Given the description of an element on the screen output the (x, y) to click on. 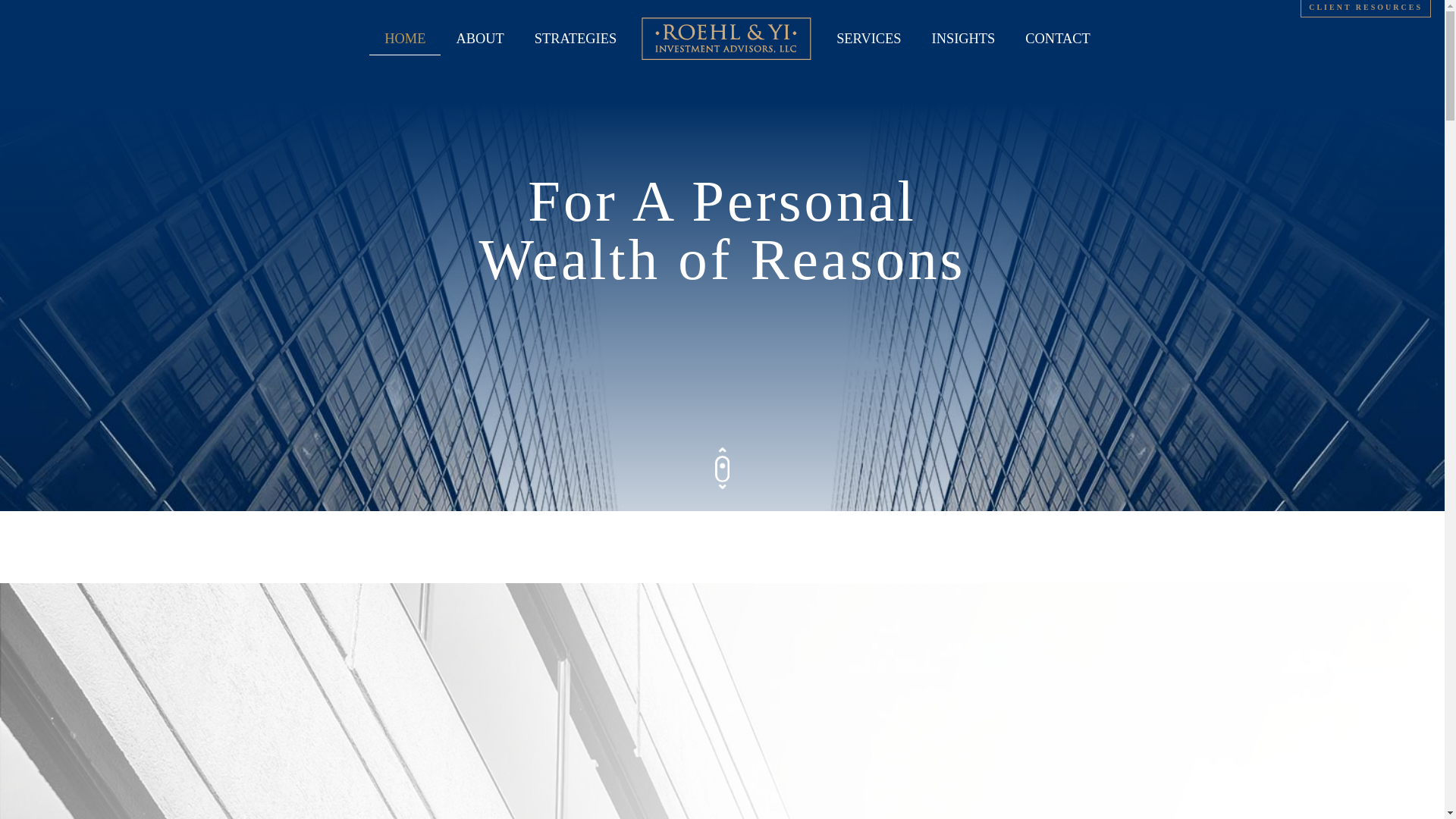
HOME (405, 39)
STRATEGIES (575, 38)
ABOUT (479, 38)
